Given the description of an element on the screen output the (x, y) to click on. 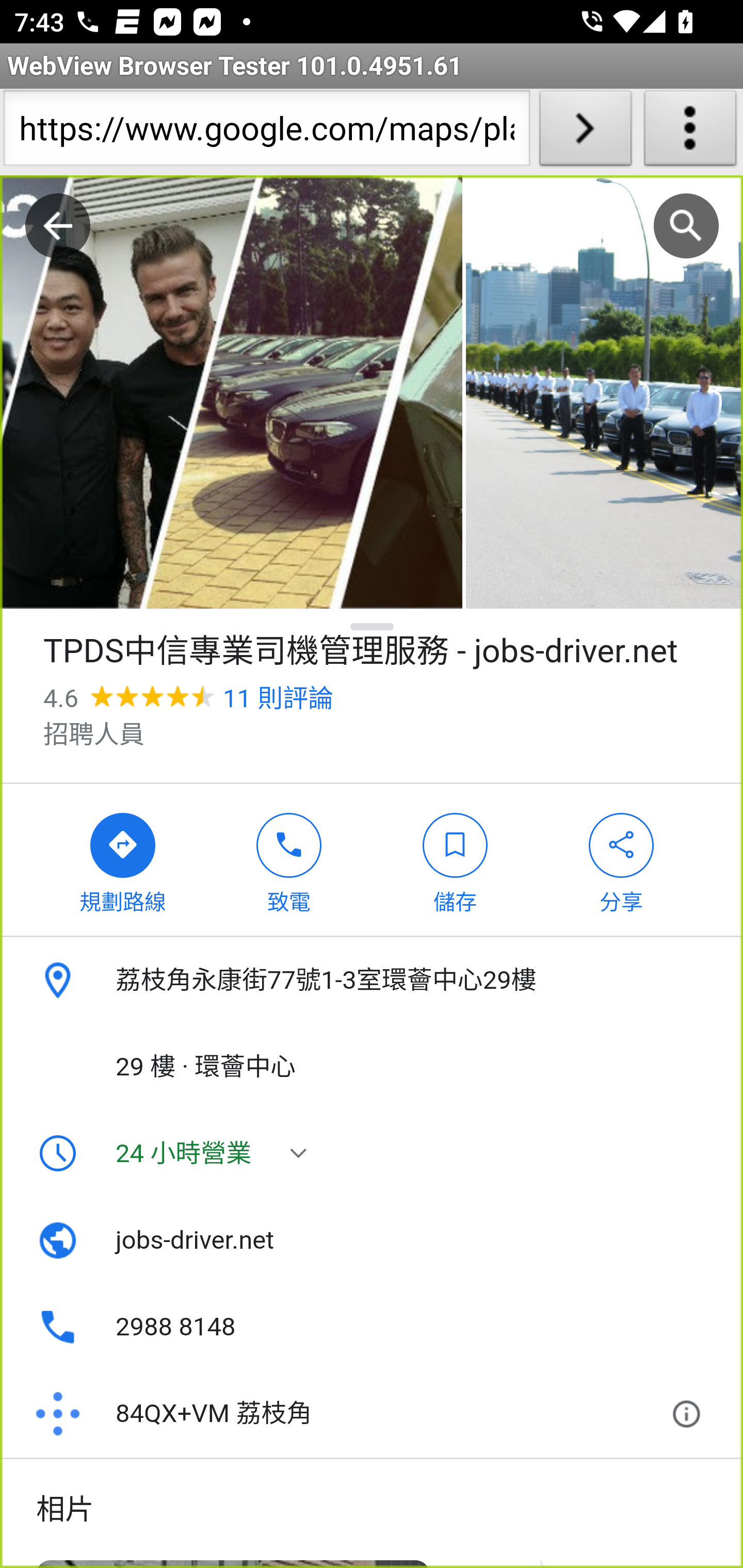
Load URL (585, 132)
About WebView (690, 132)
第 1 張相片 (共 8 張) (231, 392)
第 2 張相片 (共 8 張) (604, 392)
返回 (58, 226)
搜尋 (686, 226)
隱藏詳細資訊 (372, 626)
4.6 星級 11 則評論 (188, 698)
前往TPDS中信專業司機管理服務 - jobs-driver.net的路線 (123, 858)
致電「TPDS中信專業司機管理服務 - jobs-driver.net」  致電 (289, 858)
將「TPDS中信專業司機管理服務 - jobs-driver.net」儲存至清單中 (454, 858)
分享「TPDS中信專業司機管理服務 - jobs-driver.net」 (621, 858)
地址: 荔枝角永康街77號1-3室環薈中心29樓  (371, 981)
29 樓 · 環薈中心 (371, 1066)
營業時間 24 小時營業 顯示本週營業時間 (371, 1153)
網站: jobs-driver.net  jobs-driver.net (371, 1240)
電話號碼: 2988 8148  2988 8148 (371, 1327)
Plus Code: 84QX+VM 荔枝角 (345, 1414)
進一步瞭解 Plus Codes (690, 1414)
